Given the description of an element on the screen output the (x, y) to click on. 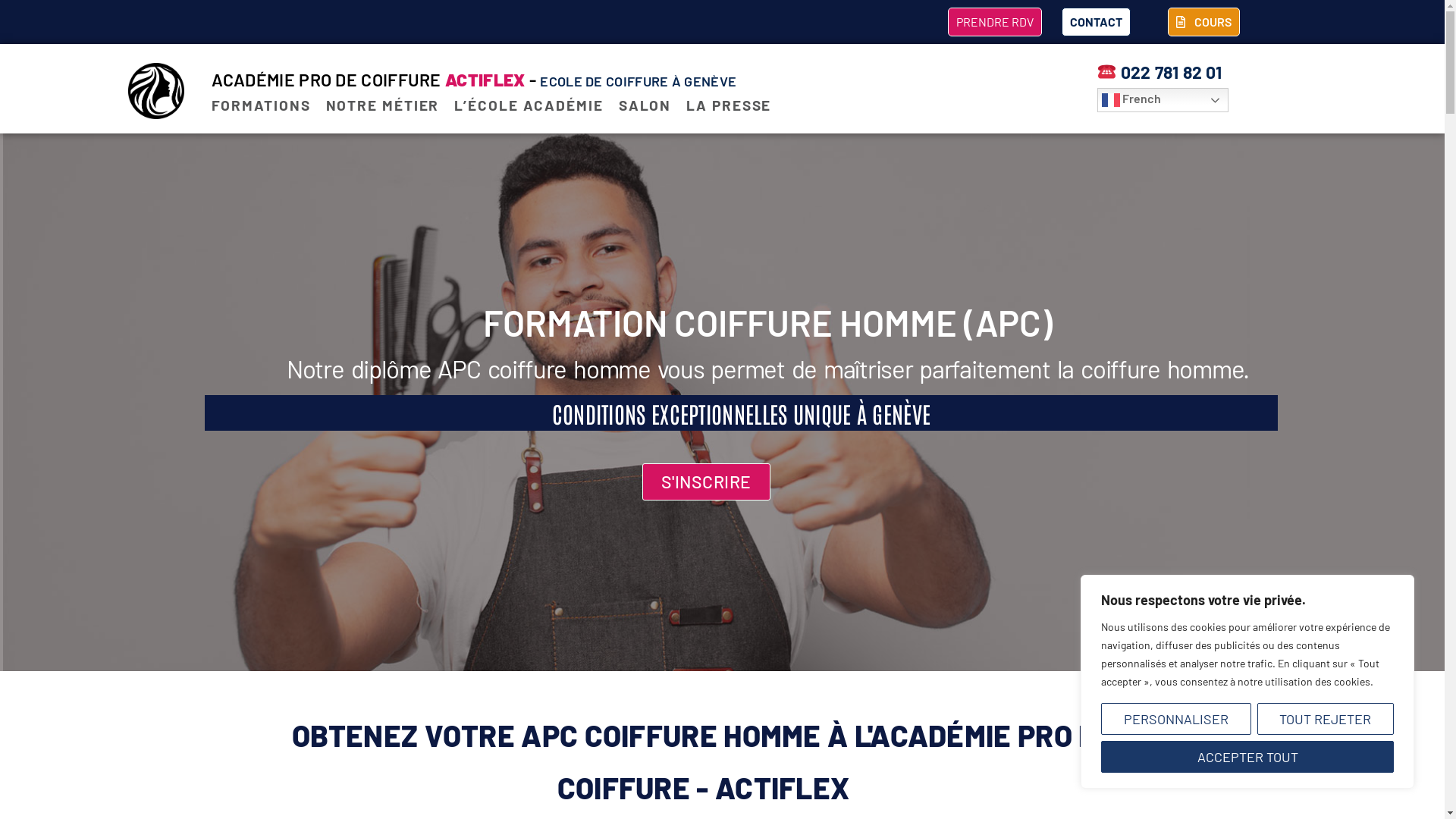
LA PRESSE Element type: text (728, 104)
French Element type: text (1162, 99)
COURS Element type: text (1203, 21)
CONTACT Element type: text (1095, 21)
SALON Element type: text (645, 104)
S'INSCRIRE Element type: text (706, 481)
FORMATIONS Element type: text (260, 104)
PRENDRE RDV Element type: text (994, 21)
